Given the description of an element on the screen output the (x, y) to click on. 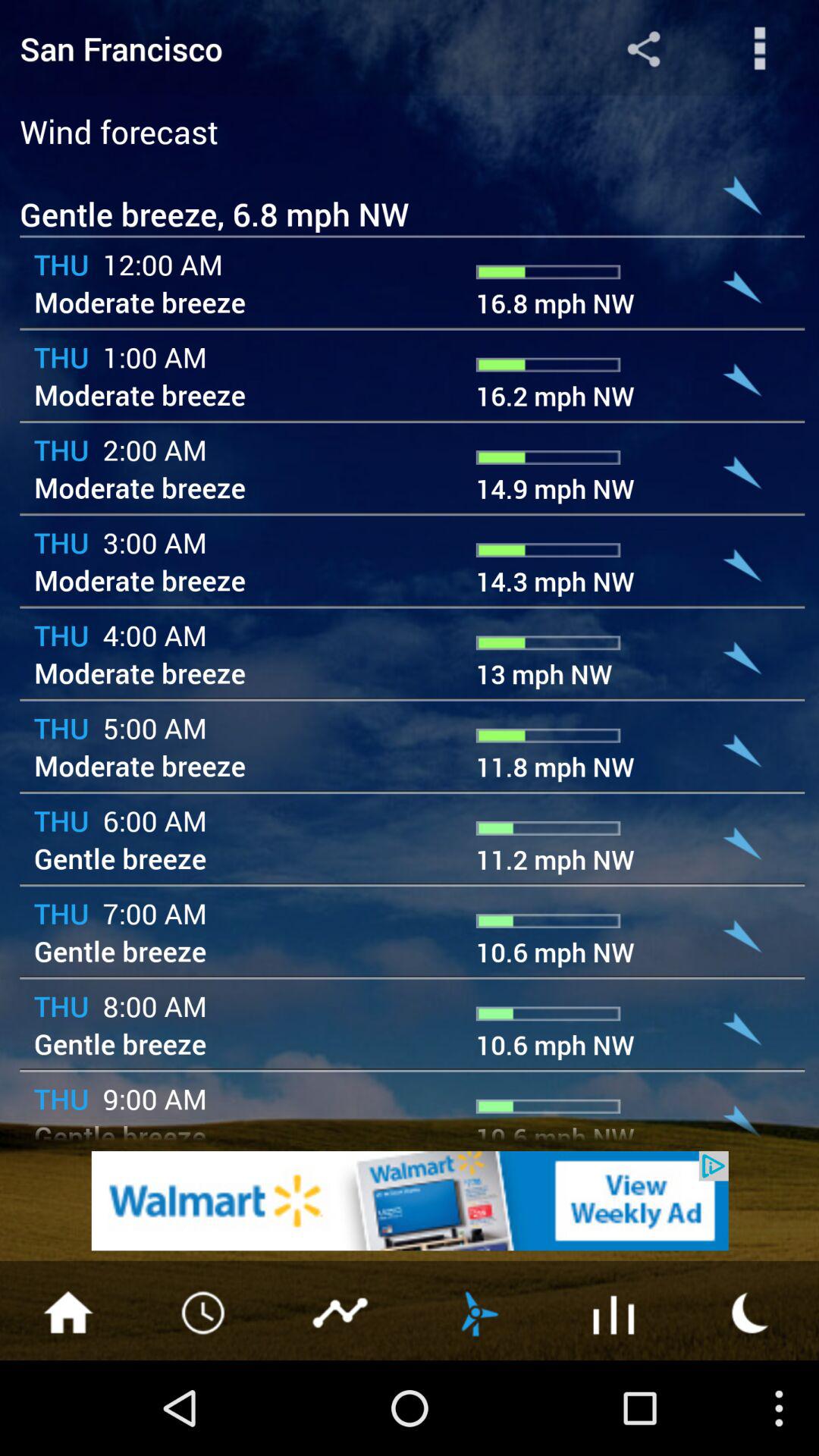
toggle night mode (750, 1311)
